Given the description of an element on the screen output the (x, y) to click on. 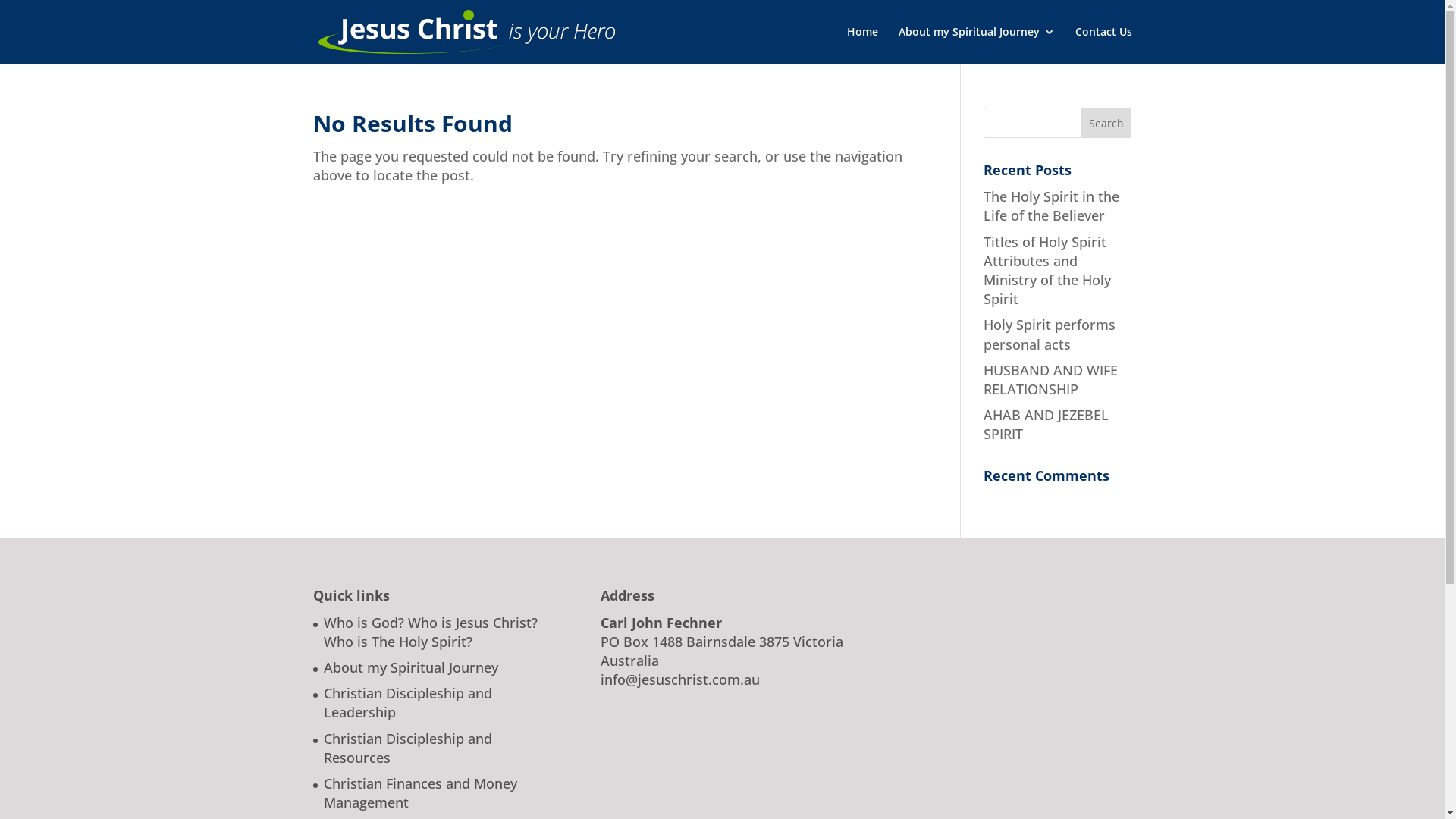
Who is God? Who is Jesus Christ? Who is The Holy Spirit? Element type: text (429, 631)
Christian Discipleship and Leadership Element type: text (407, 702)
Home Element type: text (861, 44)
About my Spiritual Journey Element type: text (975, 44)
Christian Finances and Money Management Element type: text (419, 792)
About my Spiritual Journey Element type: text (410, 667)
AHAB AND JEZEBEL SPIRIT Element type: text (1045, 423)
The Holy Spirit in the Life of the Believer Element type: text (1051, 205)
Contact Us Element type: text (1103, 44)
Holy Spirit performs personal acts Element type: text (1049, 333)
Search Element type: text (1106, 122)
Christian Discipleship and Resources Element type: text (407, 747)
HUSBAND AND WIFE RELATIONSHIP Element type: text (1050, 379)
